Given the description of an element on the screen output the (x, y) to click on. 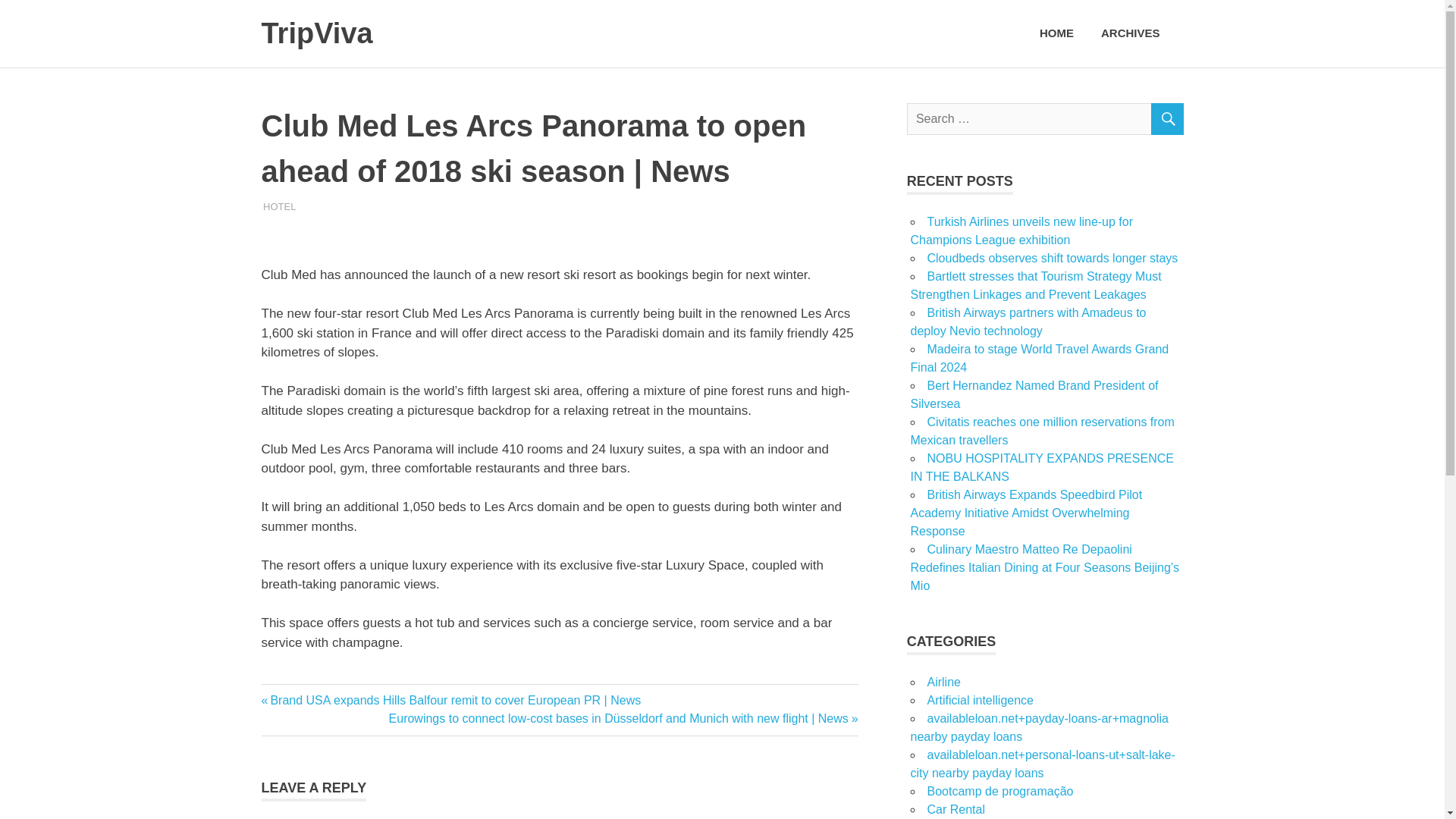
TripViva (316, 33)
NOBU HOSPITALITY EXPANDS PRESENCE IN THE BALKANS (1041, 467)
View all posts by admin (279, 205)
Search for: (1045, 119)
JANUARY 18, 2018 (306, 205)
HOME (1056, 33)
4:30 AM (306, 205)
ARCHIVES (1135, 33)
